Given the description of an element on the screen output the (x, y) to click on. 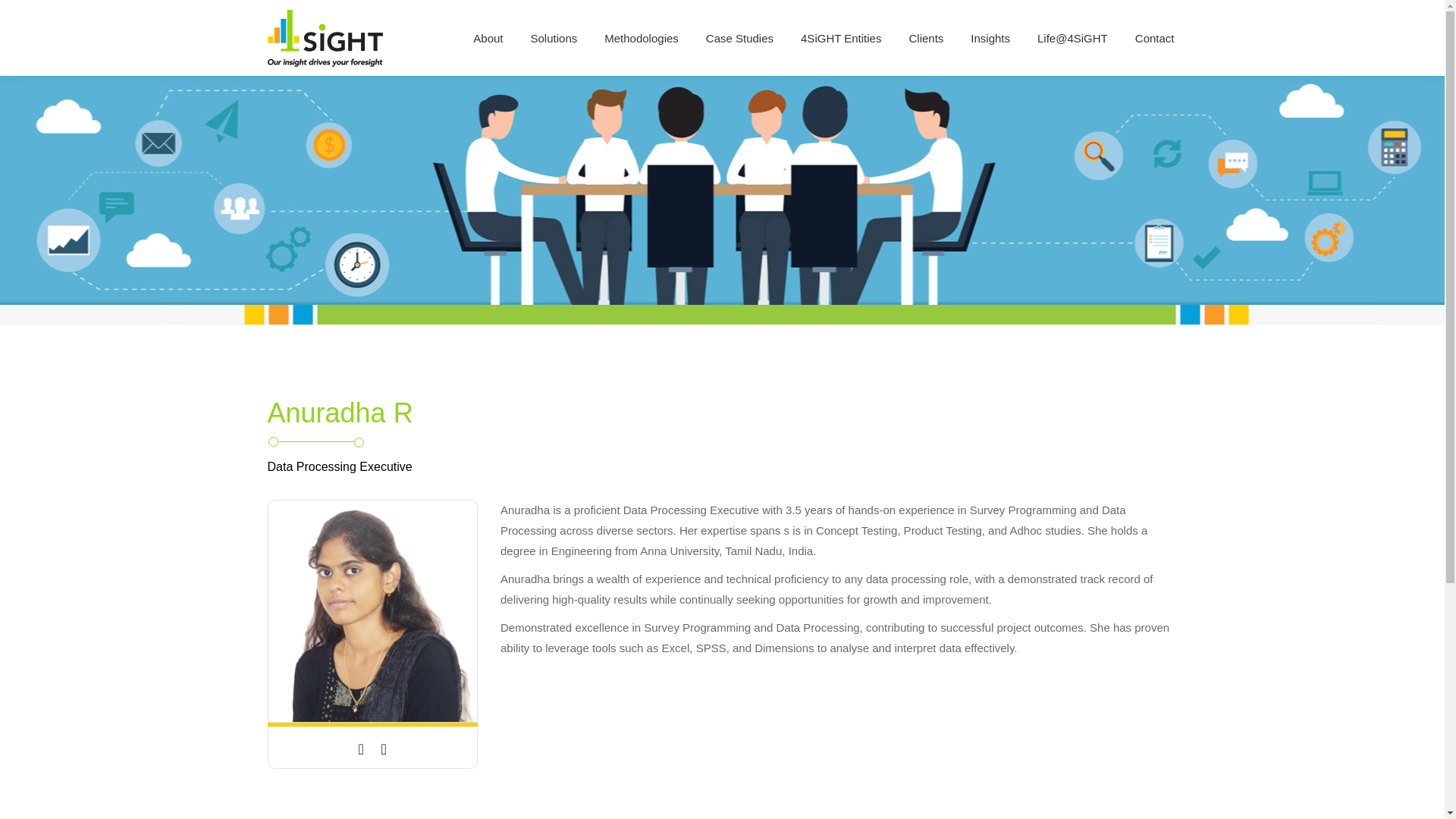
About (487, 37)
Linkedin (383, 749)
Mail (360, 749)
Methodologies (641, 37)
Contact (1154, 37)
Solutions (553, 37)
4SiGHT Entities (840, 37)
Case Studies (739, 37)
Clients (925, 37)
Insights (990, 37)
